Given the description of an element on the screen output the (x, y) to click on. 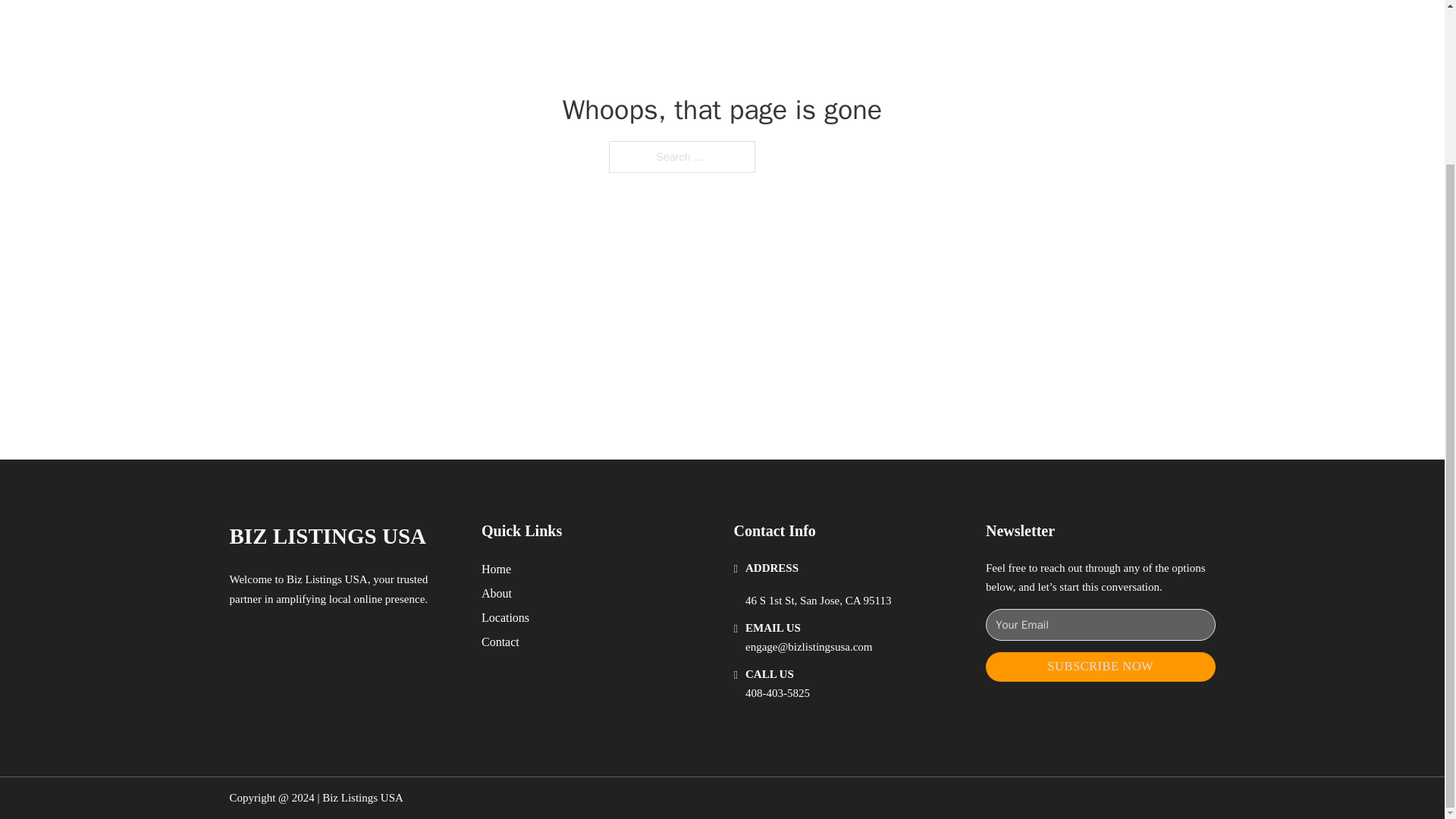
Home (496, 568)
SUBSCRIBE NOW (1100, 666)
About (496, 593)
Locations (505, 617)
Contact (500, 641)
408-403-5825 (777, 693)
BIZ LISTINGS USA (327, 536)
